Given the description of an element on the screen output the (x, y) to click on. 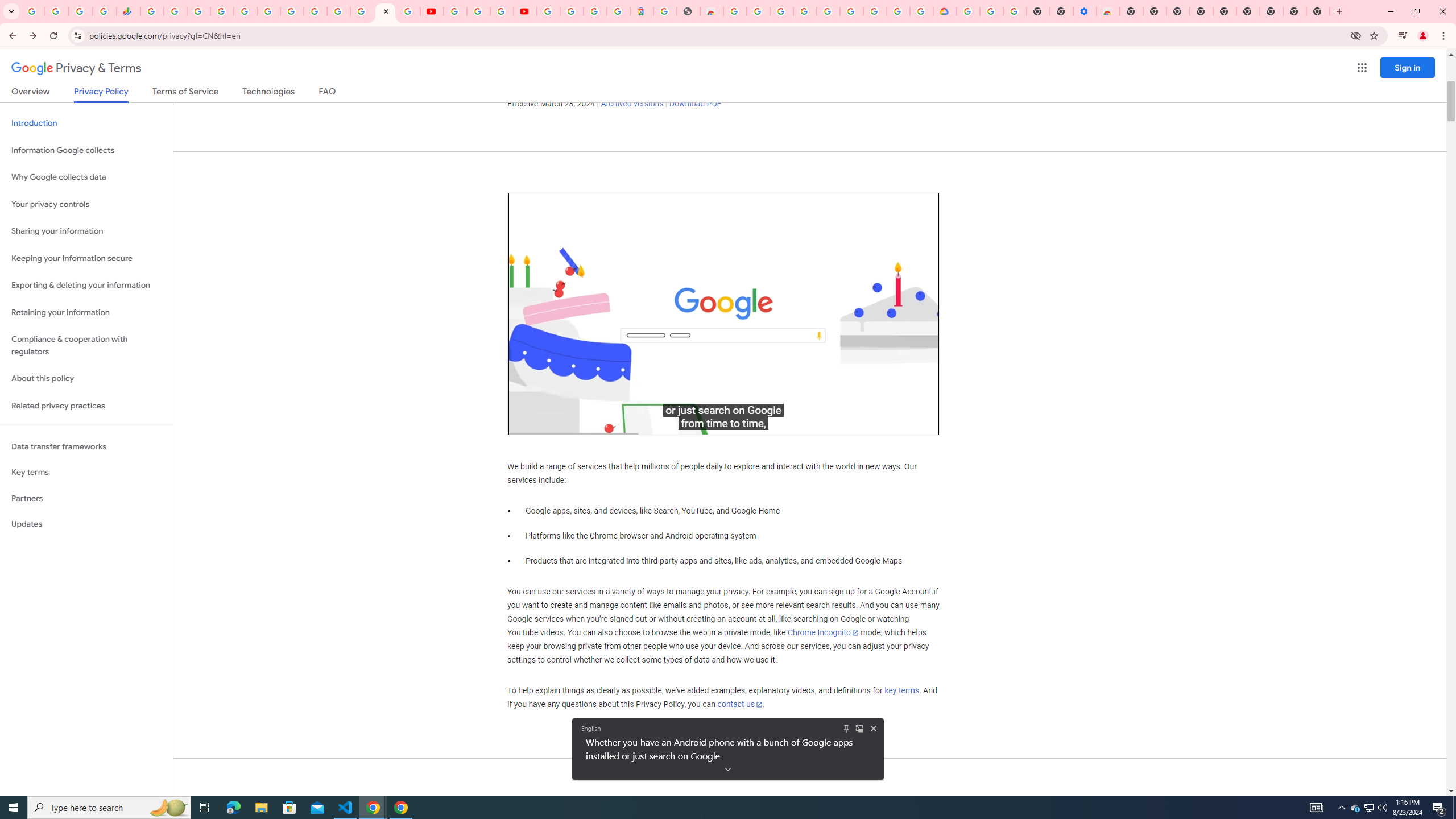
Subtitles/closed captions unavailable (836, 422)
Sign in - Google Accounts (221, 11)
Compliance & cooperation with regulators (86, 345)
Your privacy controls (86, 204)
Take the Privacy Checkup (597, 62)
Pause keyboard shortcut k (527, 422)
Watch on YouTube (890, 422)
Chrome Web Store - Accessibility extensions (1108, 11)
